Given the description of an element on the screen output the (x, y) to click on. 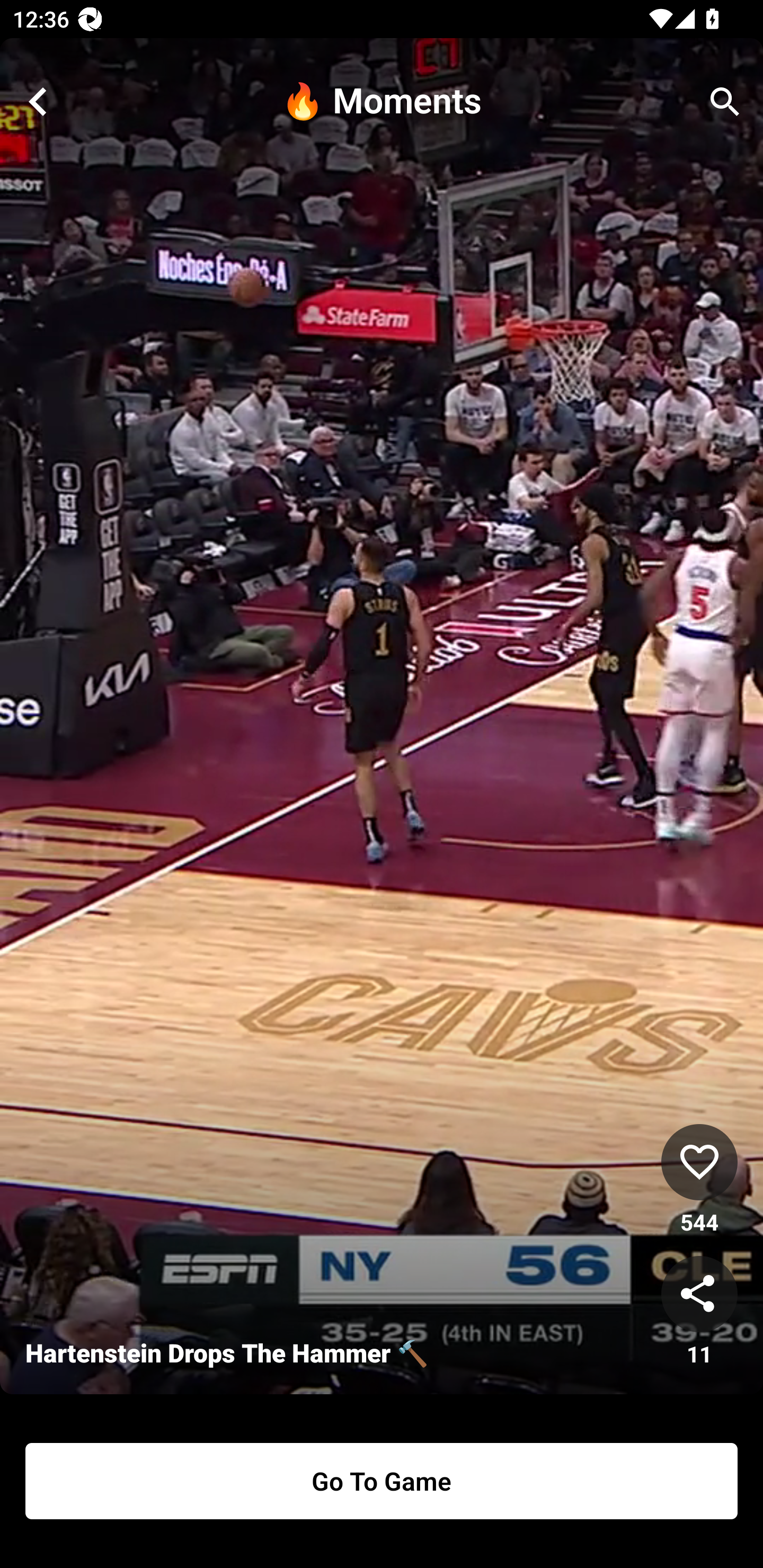
close (38, 101)
search (724, 101)
like 544 544 Likes (699, 1180)
share 11 11 Shares (699, 1311)
Go To Game (381, 1480)
